Given the description of an element on the screen output the (x, y) to click on. 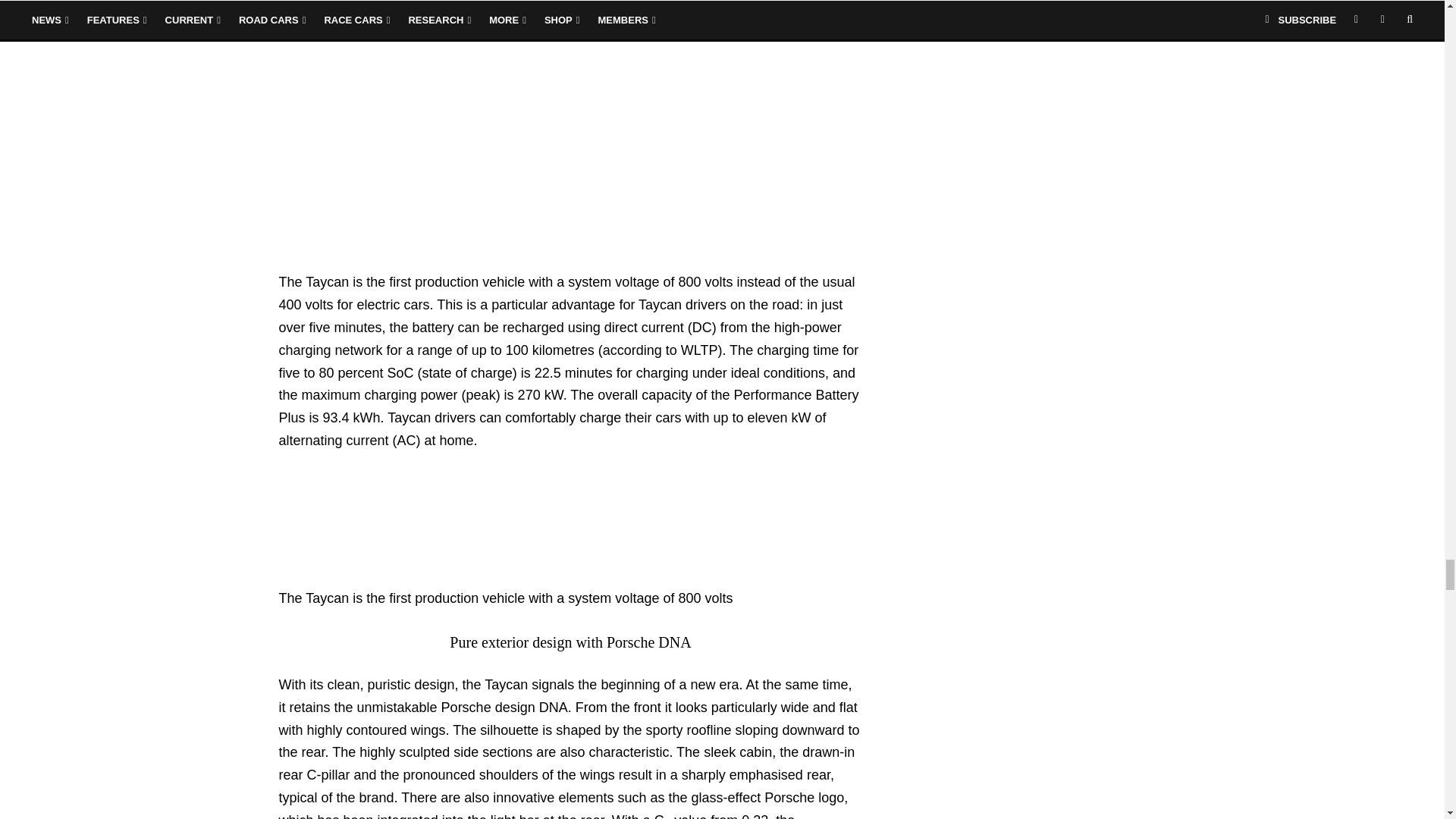
Taycan Turbo S: 800-volt system, 2019, Porsche AG (392, 575)
Taycan Turbo S, 2019, Porsche AG (392, 16)
Taycan Turbo S, 2019, Porsche AG (392, 258)
Taycan Turbo, 2019, Porsche AG (392, 137)
